Given the description of an element on the screen output the (x, y) to click on. 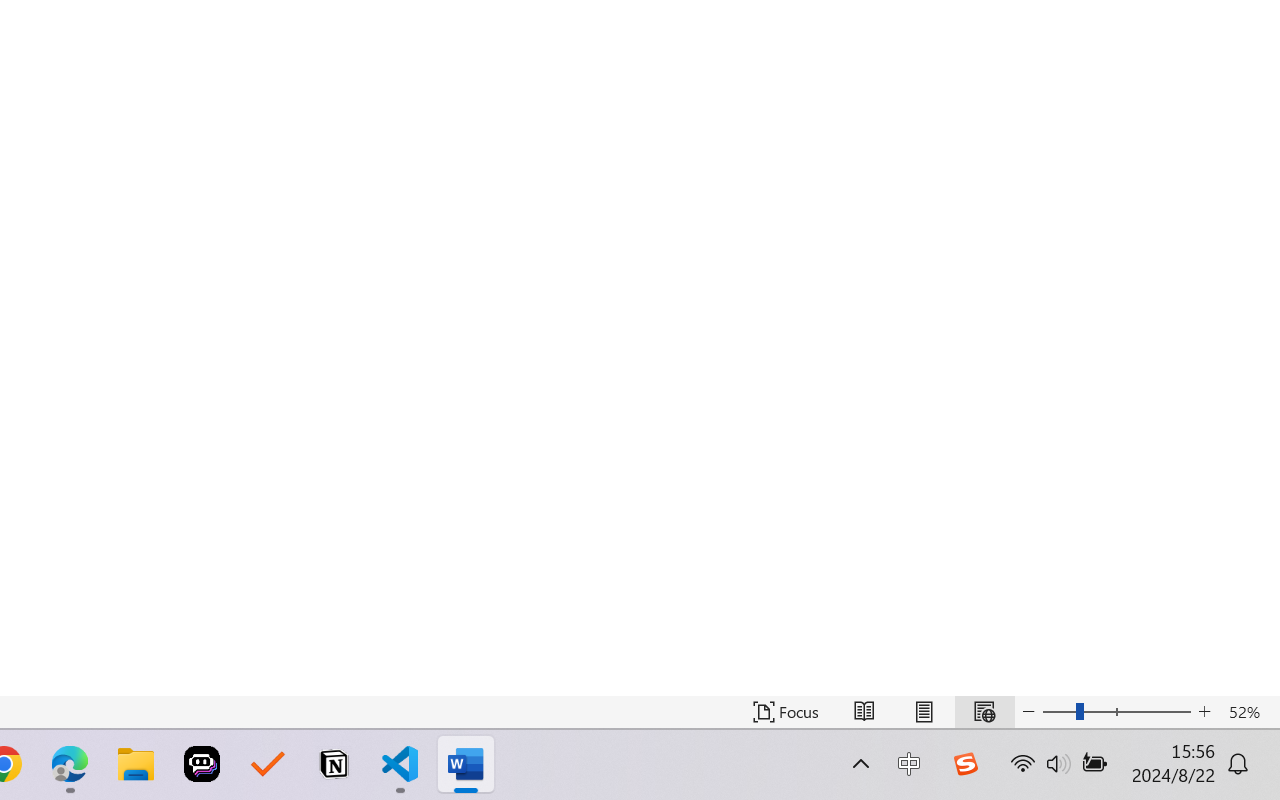
Focus  (786, 712)
Class: Image (965, 764)
Read Mode (864, 712)
Zoom In (1204, 712)
Print Layout (924, 712)
Web Layout (984, 712)
Zoom 52% (1249, 712)
Zoom Out (1058, 712)
Zoom (1116, 712)
